Given the description of an element on the screen output the (x, y) to click on. 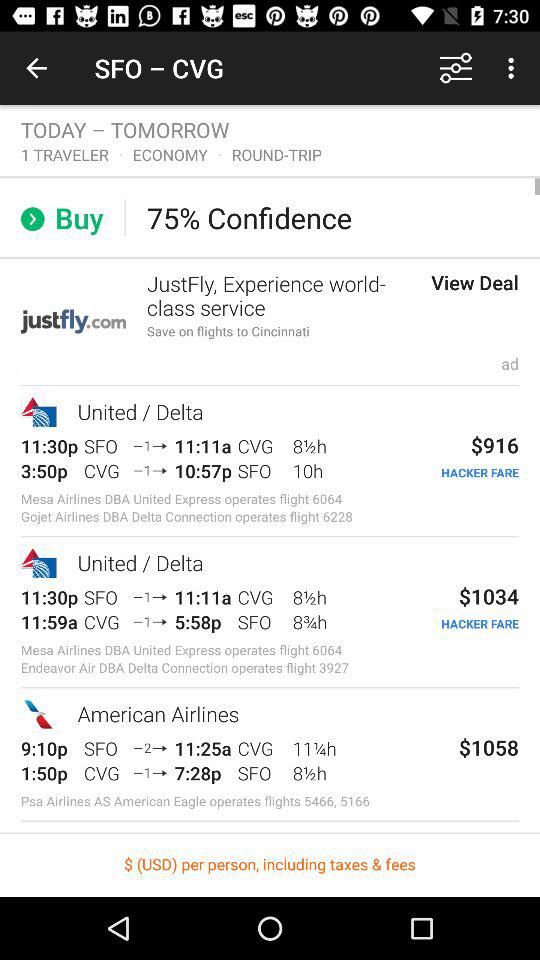
jump until the usd per person item (270, 864)
